Given the description of an element on the screen output the (x, y) to click on. 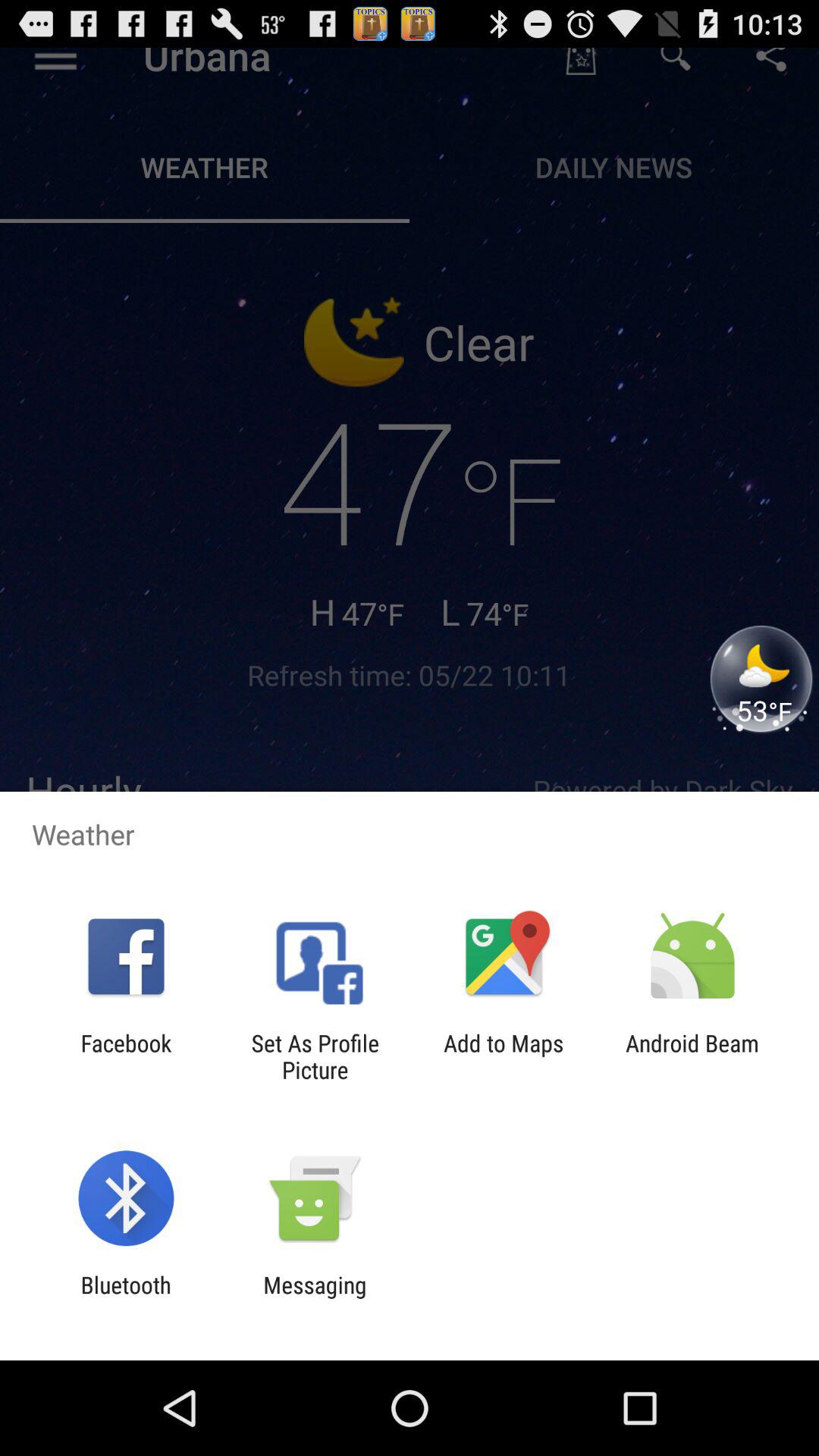
open app next to set as profile icon (125, 1056)
